Given the description of an element on the screen output the (x, y) to click on. 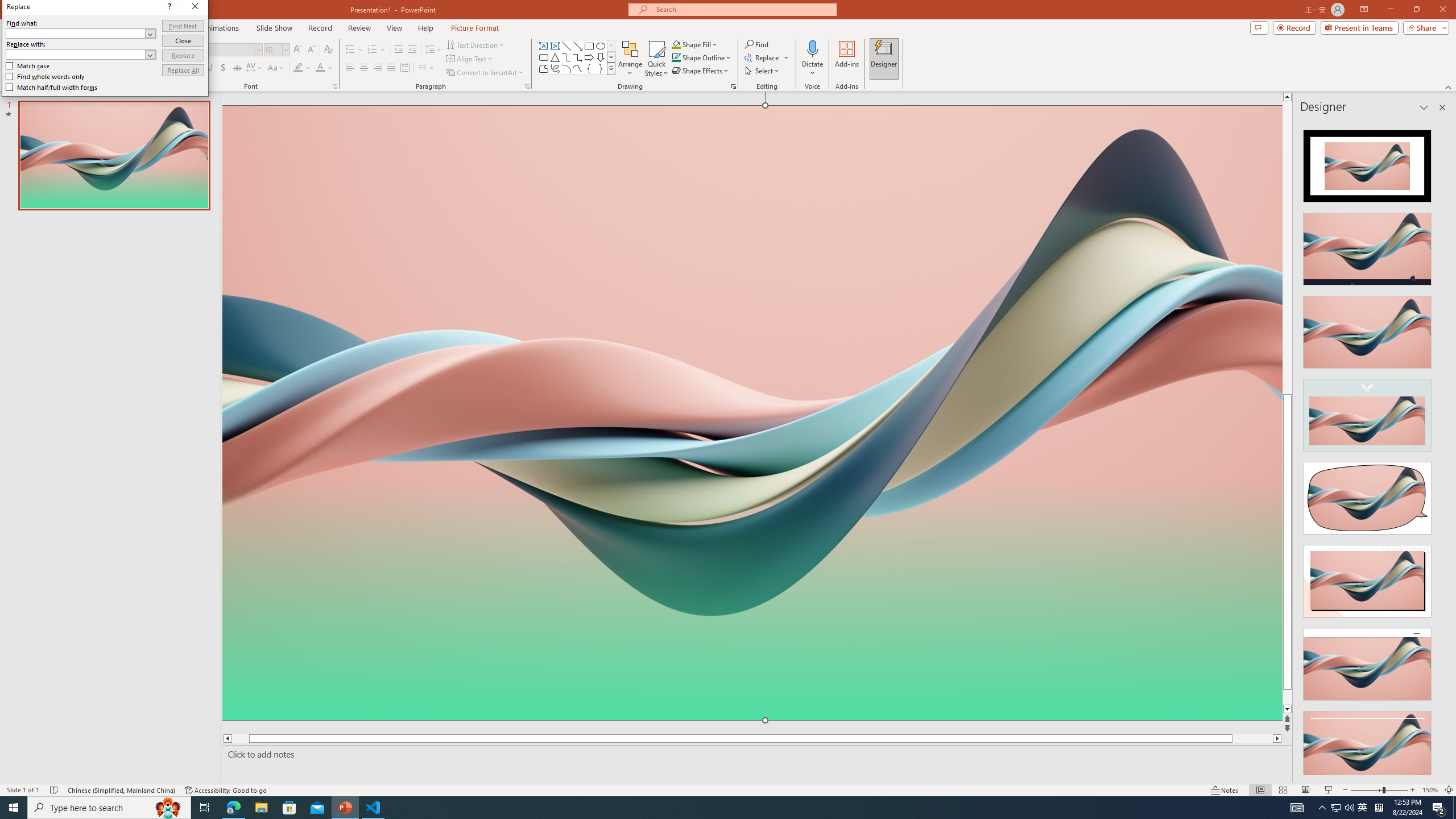
Picture Format (475, 28)
